Given the description of an element on the screen output the (x, y) to click on. 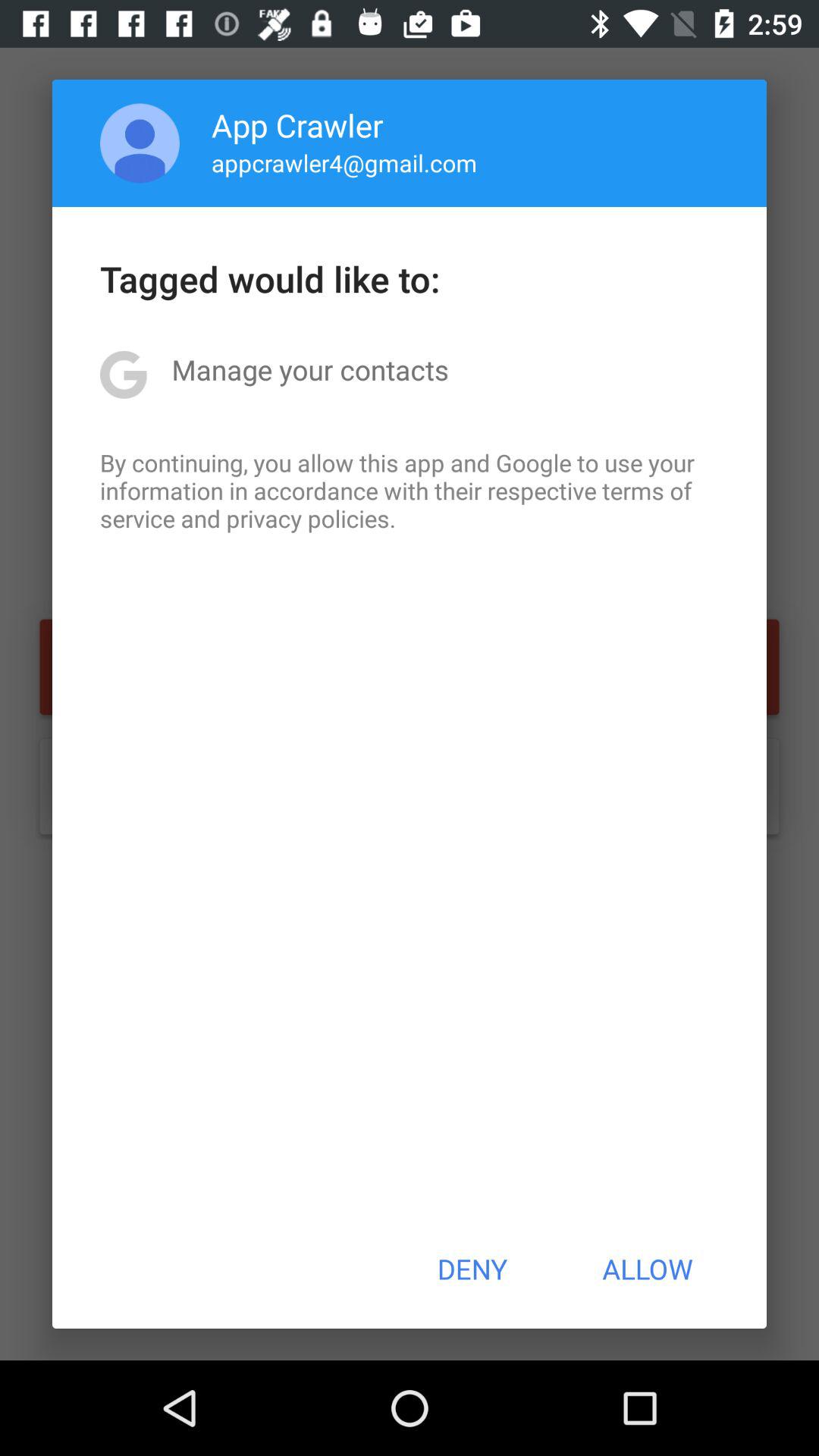
press icon above the appcrawler4@gmail.com app (297, 124)
